Given the description of an element on the screen output the (x, y) to click on. 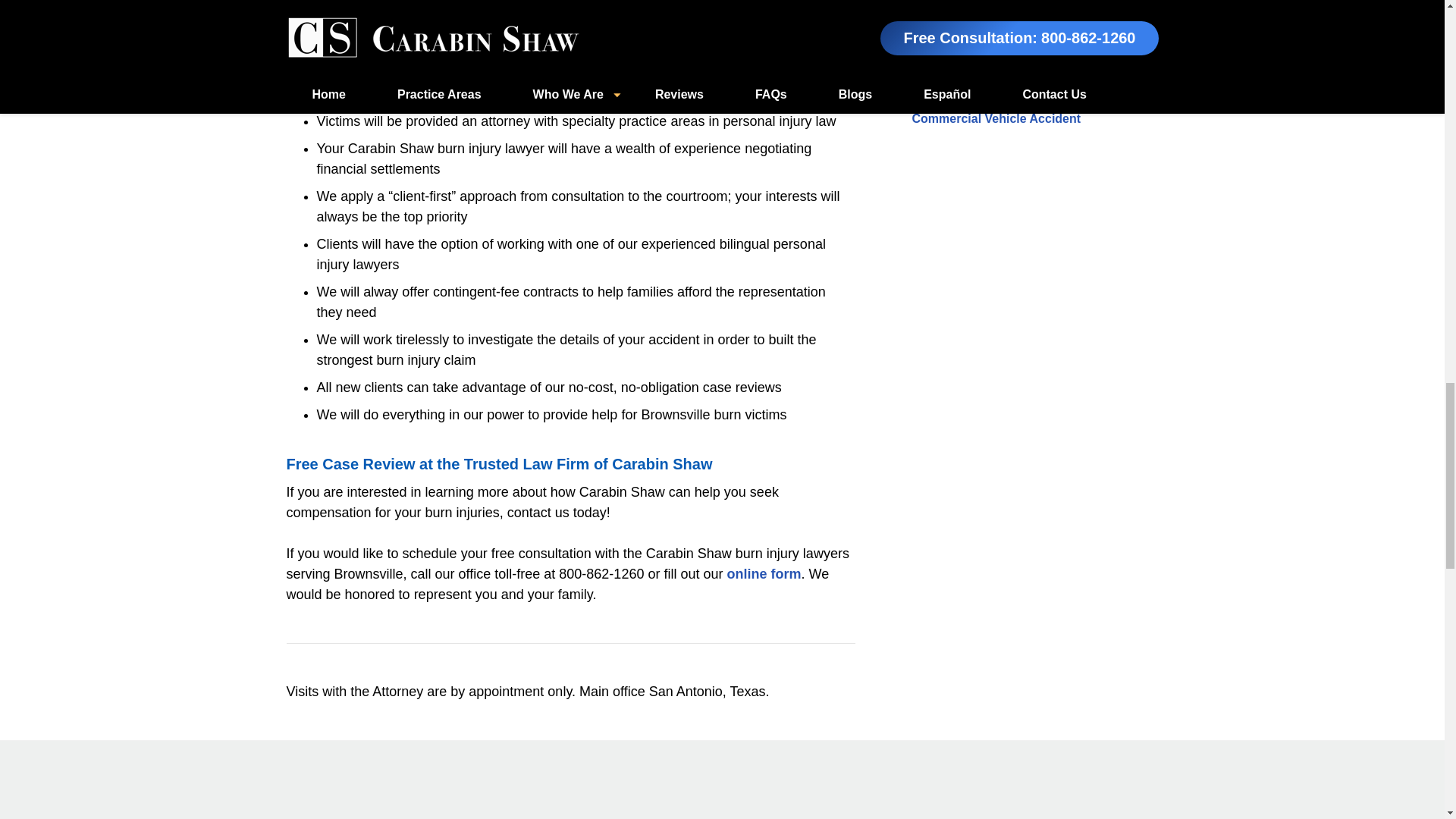
online form (763, 573)
Carabin Shaw (695, 59)
